Given the description of an element on the screen output the (x, y) to click on. 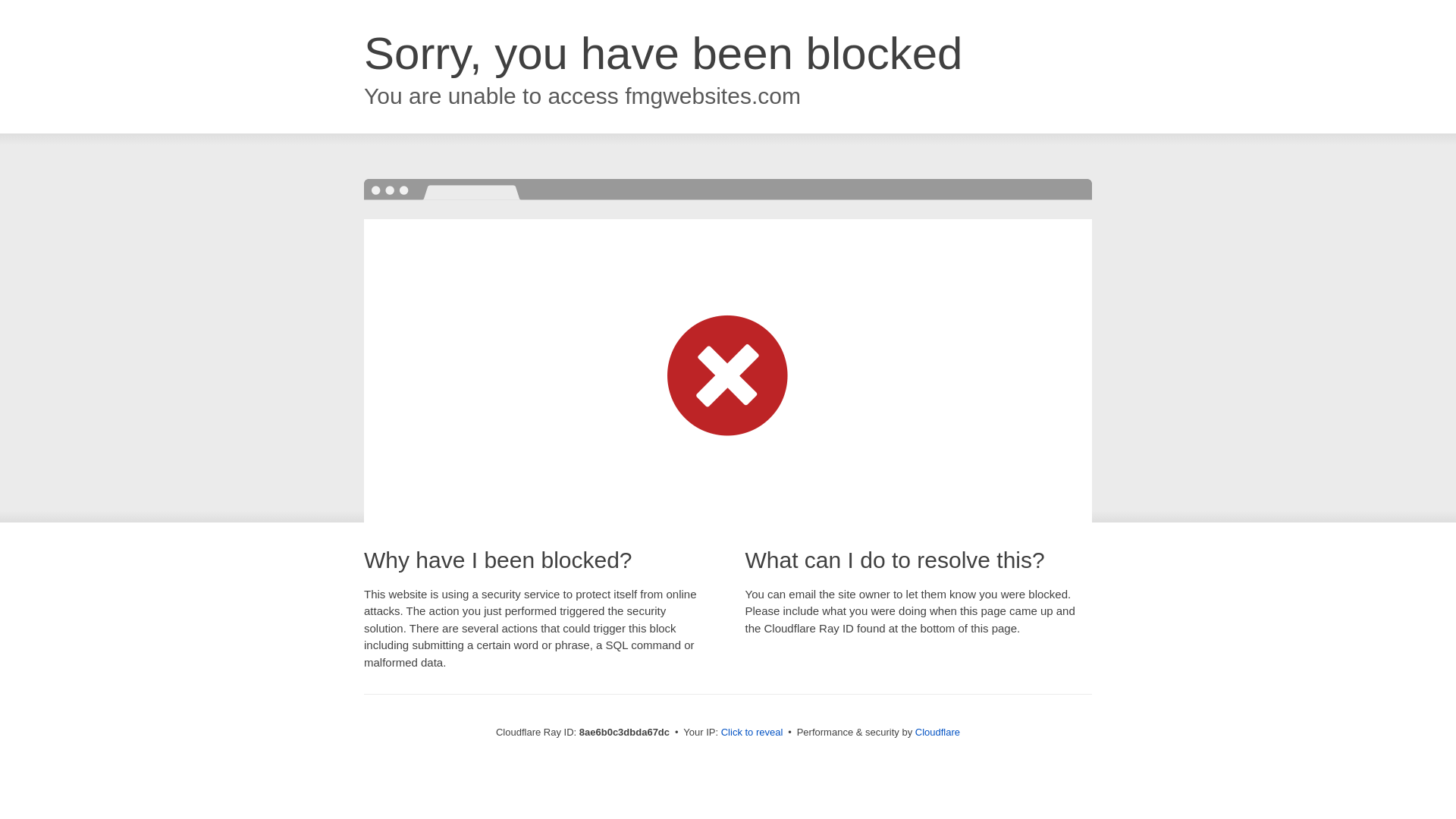
Cloudflare (937, 731)
Click to reveal (751, 732)
